Given the description of an element on the screen output the (x, y) to click on. 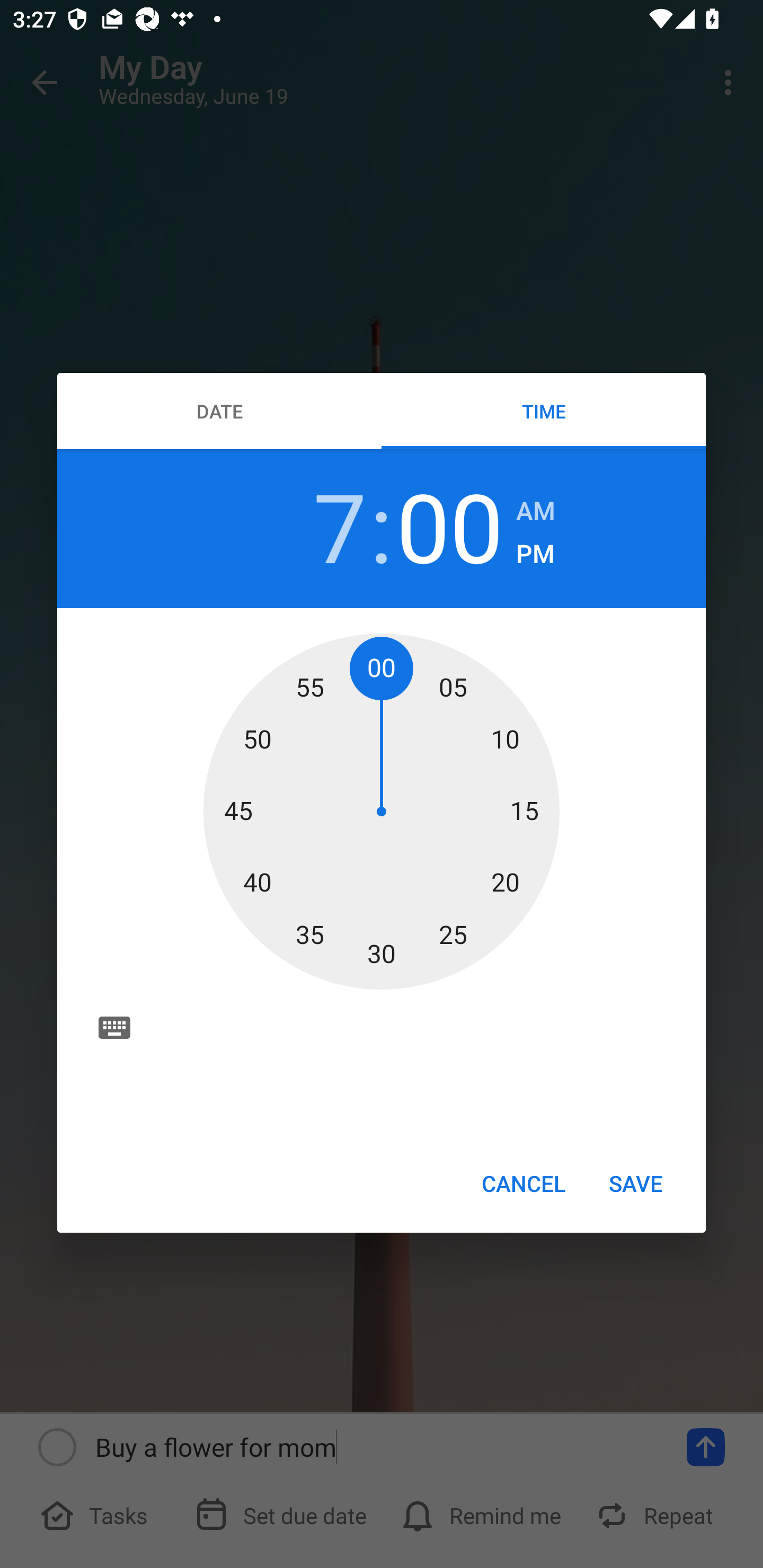
SAVE (635, 1182)
